Given the description of an element on the screen output the (x, y) to click on. 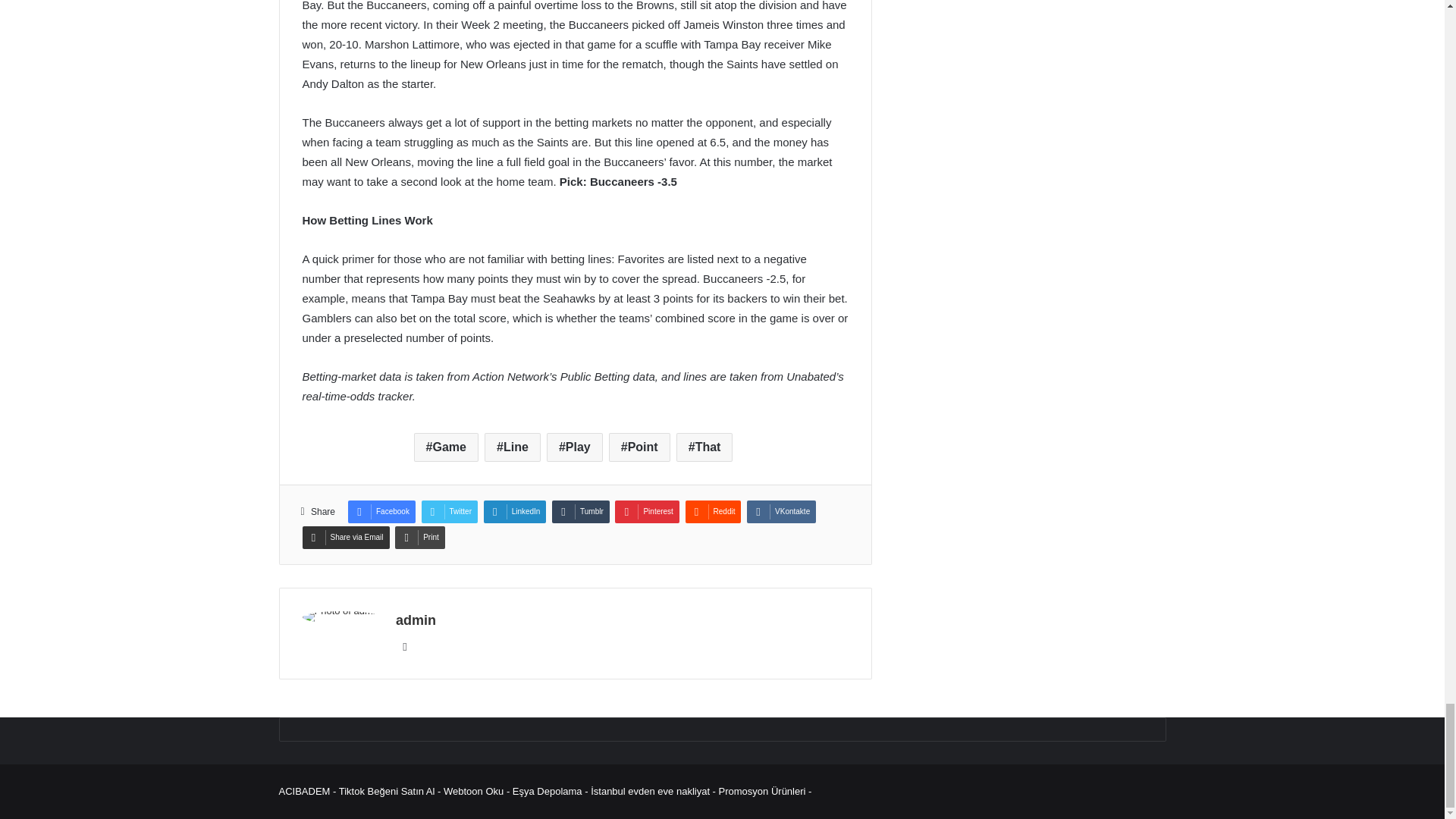
Pinterest (646, 511)
LinkedIn (515, 511)
Reddit (713, 511)
That (705, 447)
Game (446, 447)
Line (512, 447)
Point (638, 447)
Tumblr (580, 511)
Twitter (449, 511)
Play (574, 447)
